Given the description of an element on the screen output the (x, y) to click on. 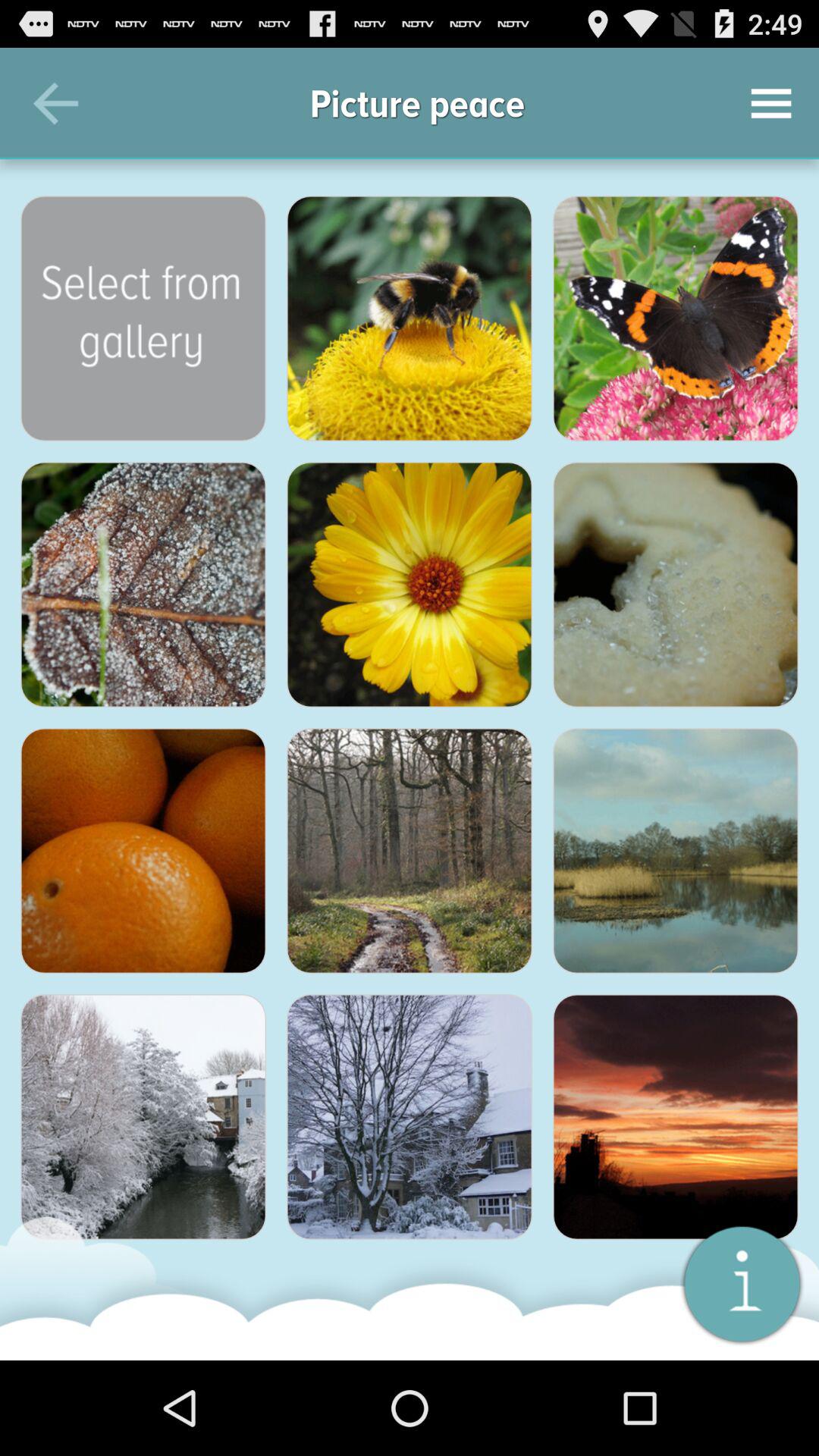
select photo of flower (409, 584)
